Given the description of an element on the screen output the (x, y) to click on. 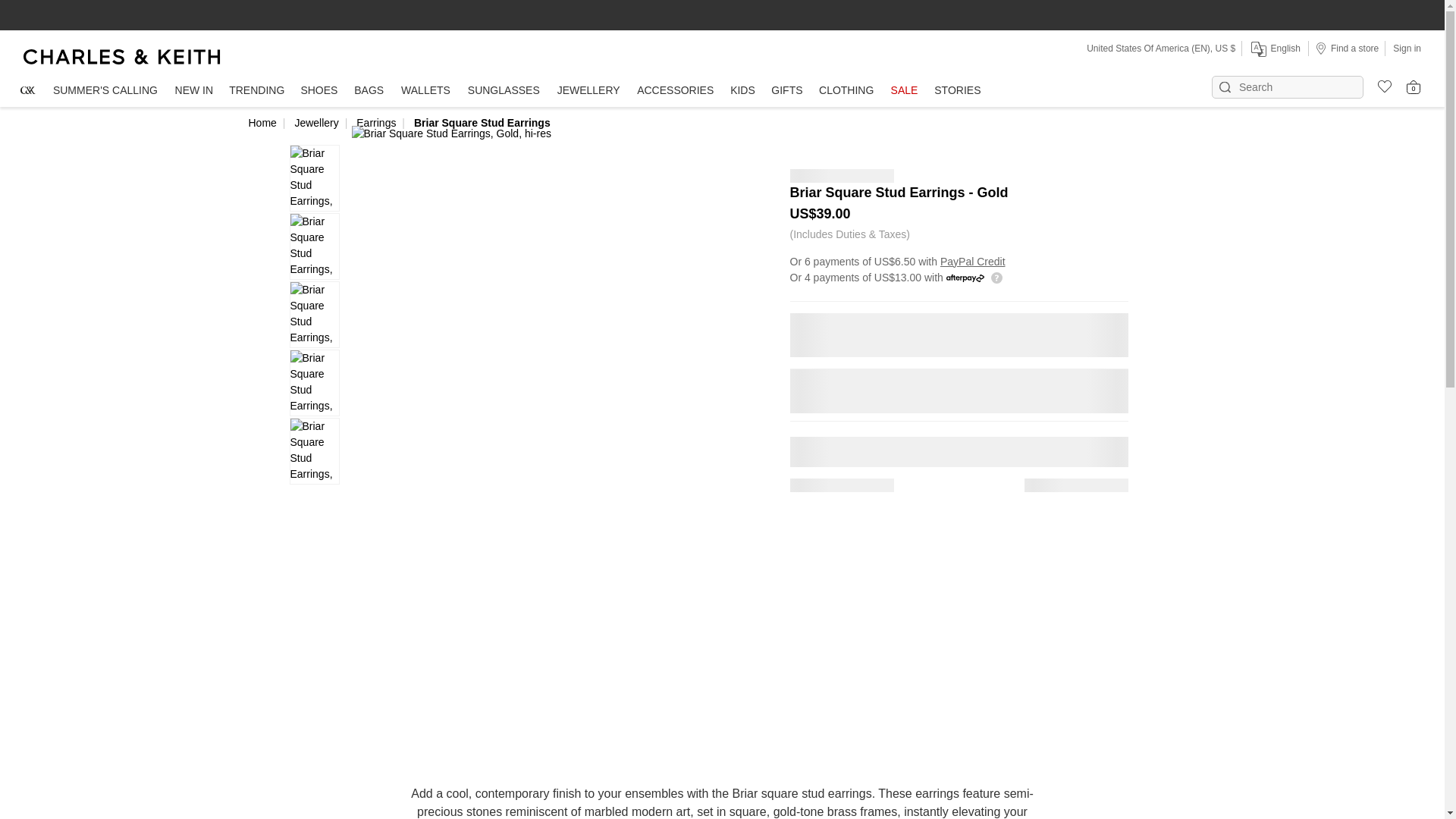
JEWELLERY (588, 91)
CLOTHING (846, 91)
Sign in (1407, 48)
WALLETS (426, 91)
SALE (904, 91)
View Cart (1413, 87)
STORIES (957, 91)
Find a store (1346, 48)
wishlist (1378, 84)
SHOES (319, 91)
TRENDING (256, 91)
SUNGLASSES (504, 91)
NEW IN (194, 91)
KIDS (742, 91)
English (1274, 48)
